Given the description of an element on the screen output the (x, y) to click on. 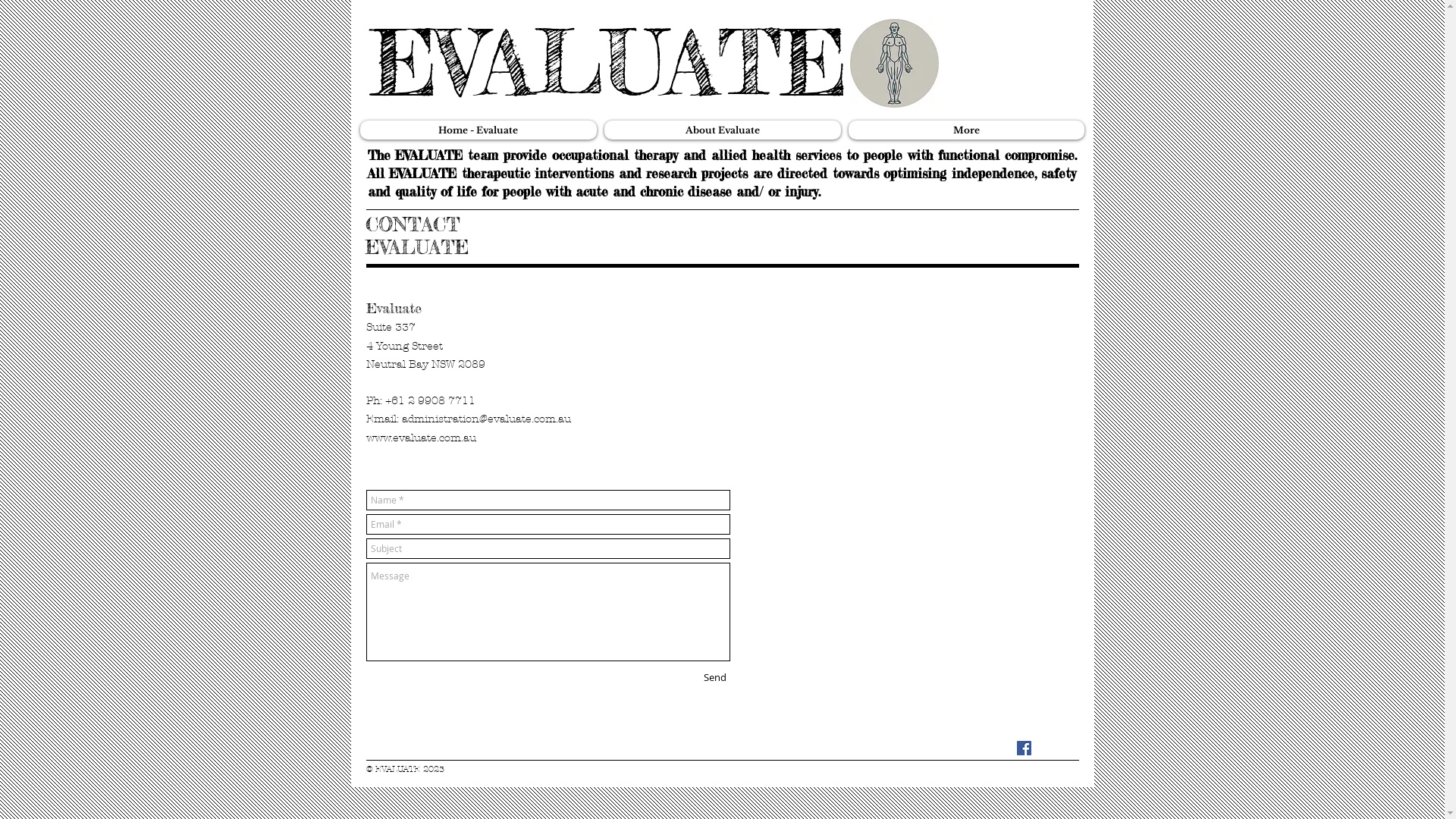
EVALUATE Element type: text (608, 62)
Send Element type: text (714, 677)
About Evaluate Element type: text (721, 129)
Home - Evaluate Element type: text (477, 129)
www.evaluate.com.au Element type: text (420, 437)
administration@evaluate.com.au Element type: text (486, 418)
